Given the description of an element on the screen output the (x, y) to click on. 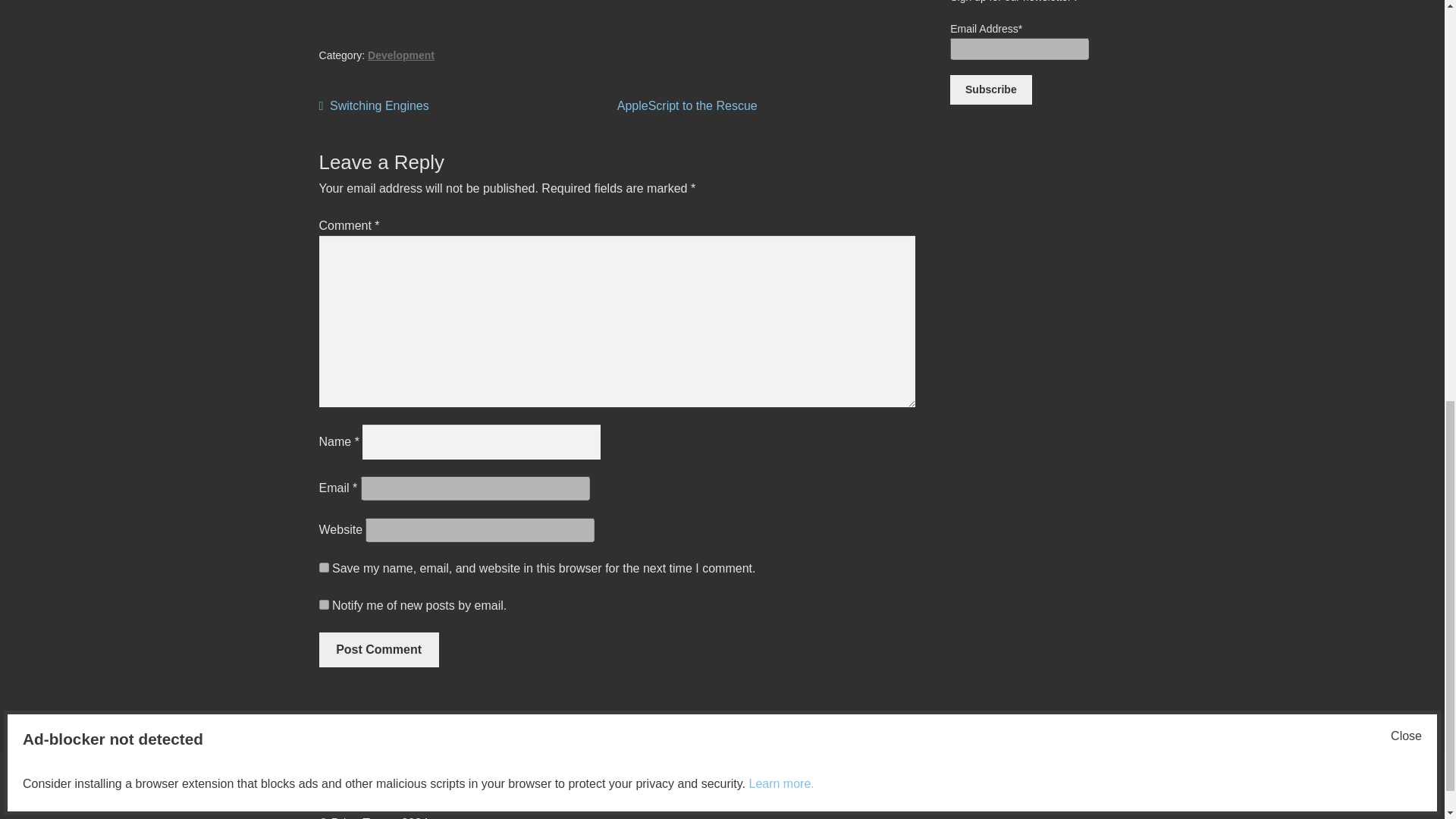
subscribe (323, 604)
yes (323, 567)
Development (400, 55)
Subscribe (687, 105)
Subscribe (373, 106)
Mastodon (990, 90)
Post Comment (990, 90)
Post Comment (327, 760)
